Given the description of an element on the screen output the (x, y) to click on. 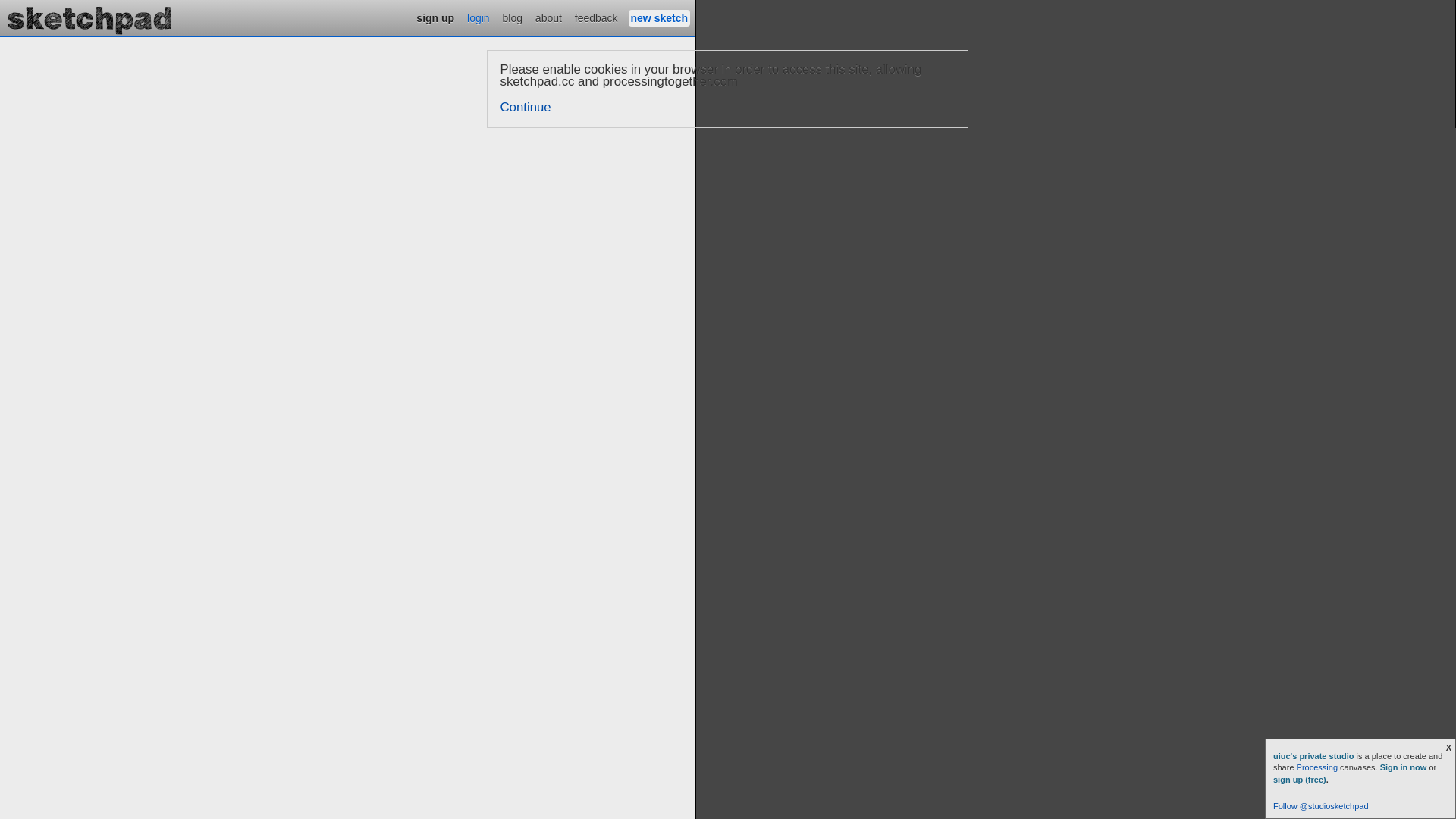
Continue Element type: text (525, 107)
Sign in now Element type: text (1403, 766)
sign up (free) Element type: text (1299, 779)
Processing Element type: text (1316, 766)
new sketch Element type: text (659, 17)
Studio Sketchpad is Processing on Etherpad Element type: hover (90, 18)
blog Element type: text (512, 17)
uiuc's private studio Element type: text (1314, 755)
Follow @studiosketchpad Element type: text (1320, 805)
sign up Element type: text (435, 17)
about Element type: text (548, 17)
login Element type: text (478, 17)
feedback Element type: text (596, 17)
